Given the description of an element on the screen output the (x, y) to click on. 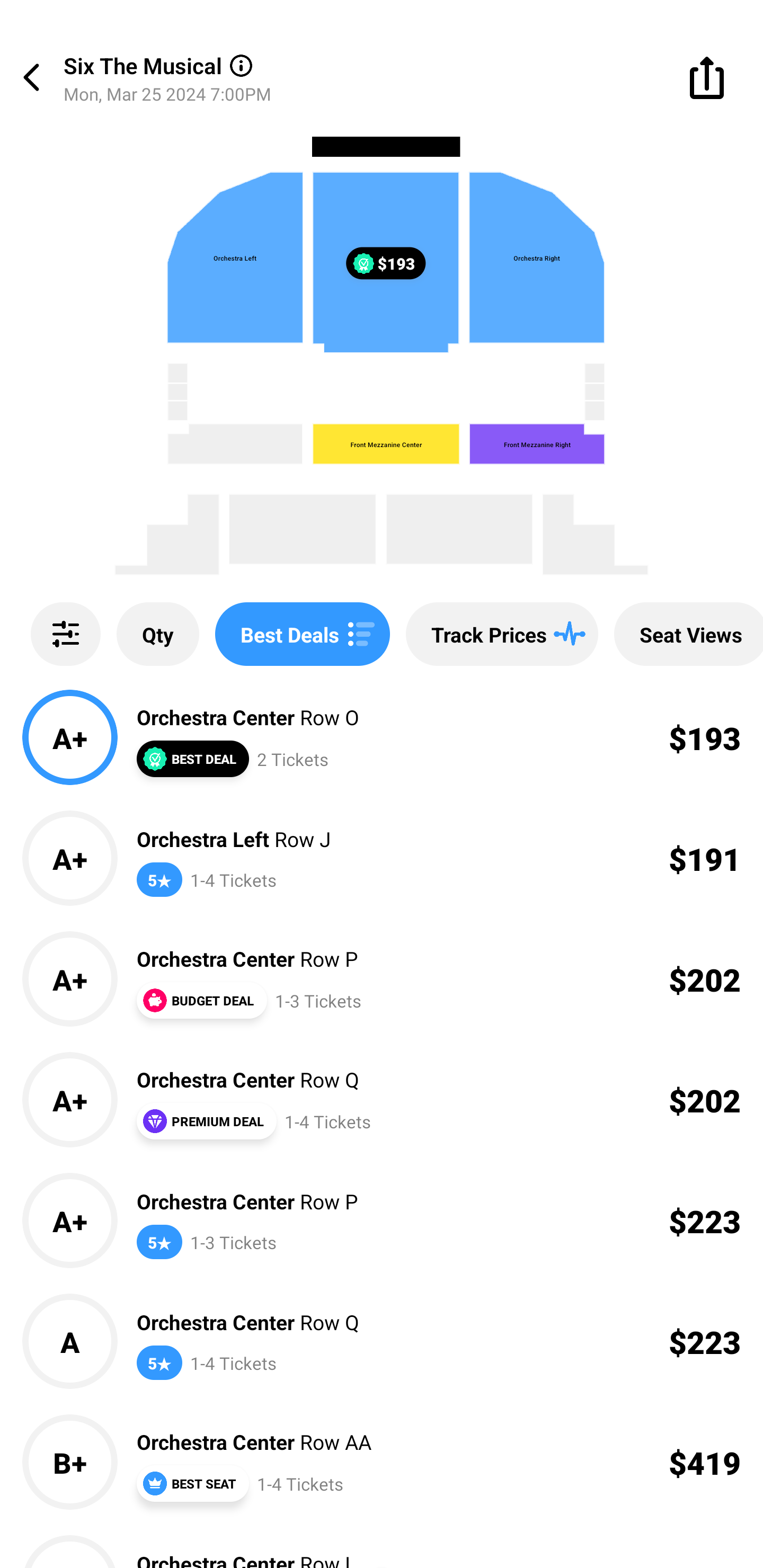
$193 (385, 263)
Qty (157, 634)
Best Deals (302, 634)
Track Prices (501, 634)
Seat Views (688, 634)
BEST DEAL (192, 758)
BUDGET DEAL (201, 1000)
PREMIUM DEAL (206, 1120)
BEST SEAT (192, 1483)
